Given the description of an element on the screen output the (x, y) to click on. 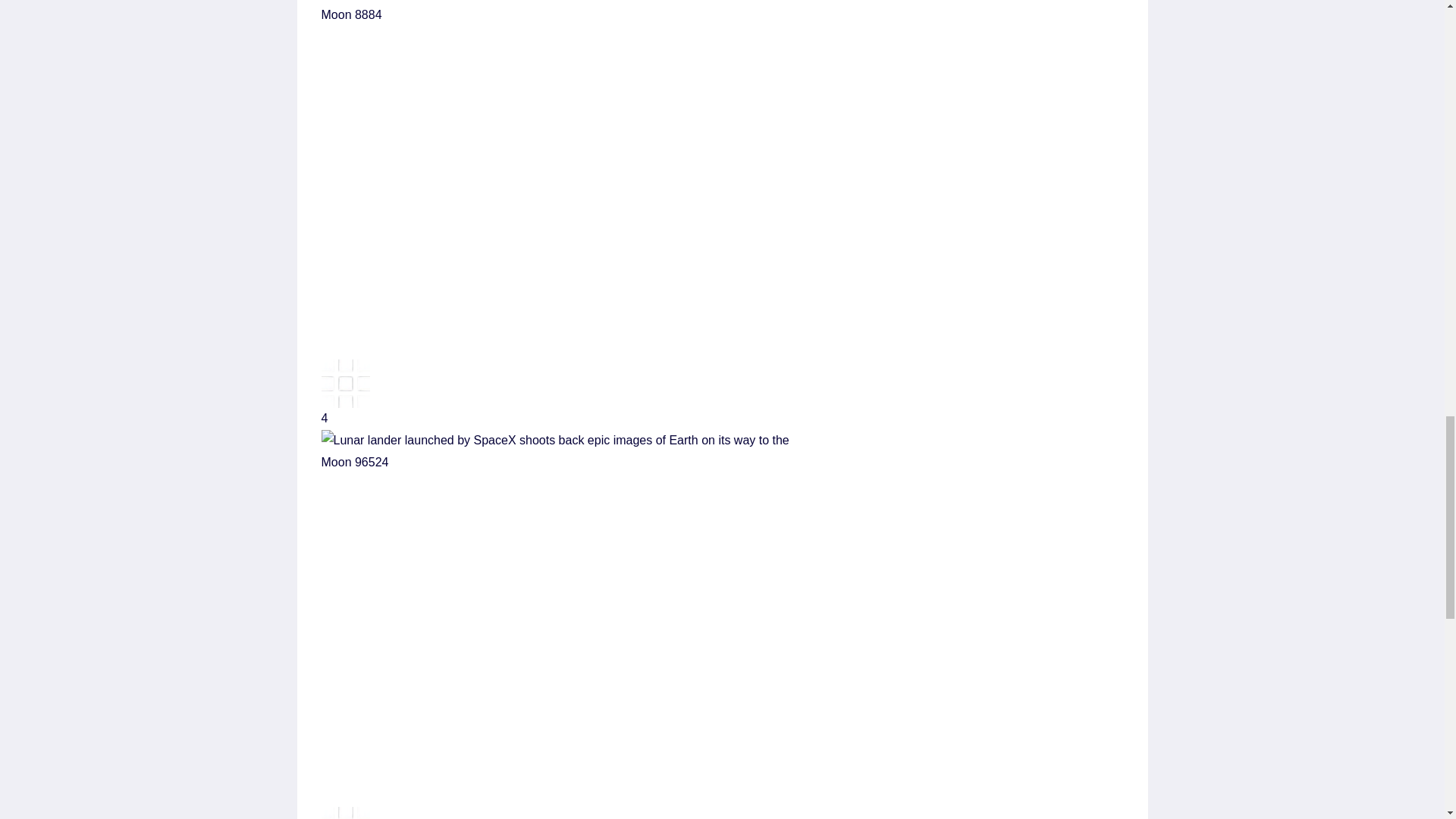
Open Gallery (722, 394)
Open Gallery (722, 812)
